Given the description of an element on the screen output the (x, y) to click on. 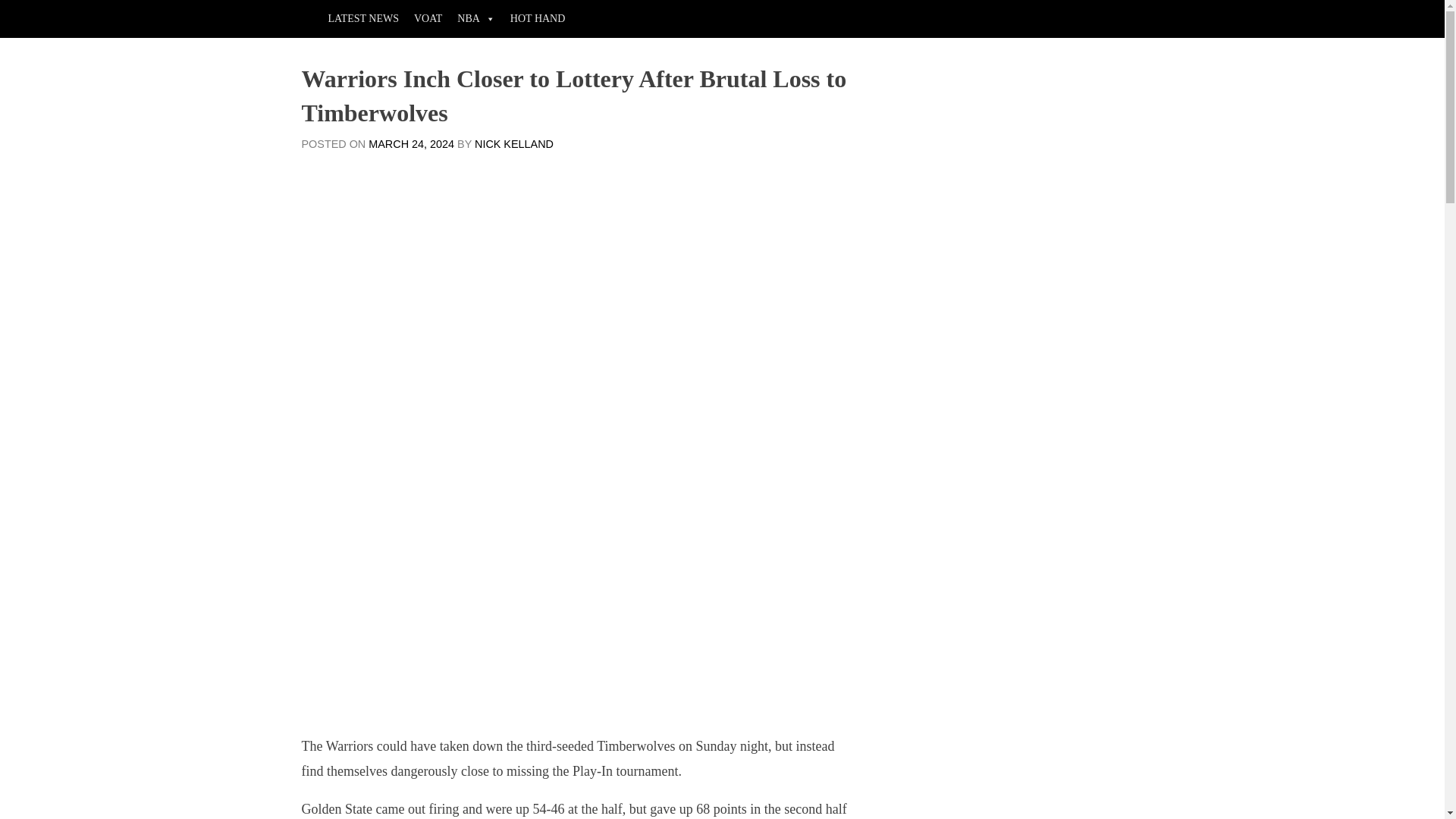
VOAT (427, 18)
LATEST NEWS (363, 18)
NBA (475, 18)
HOT HAND (537, 18)
MARCH 24, 2024 (411, 143)
